Given the description of an element on the screen output the (x, y) to click on. 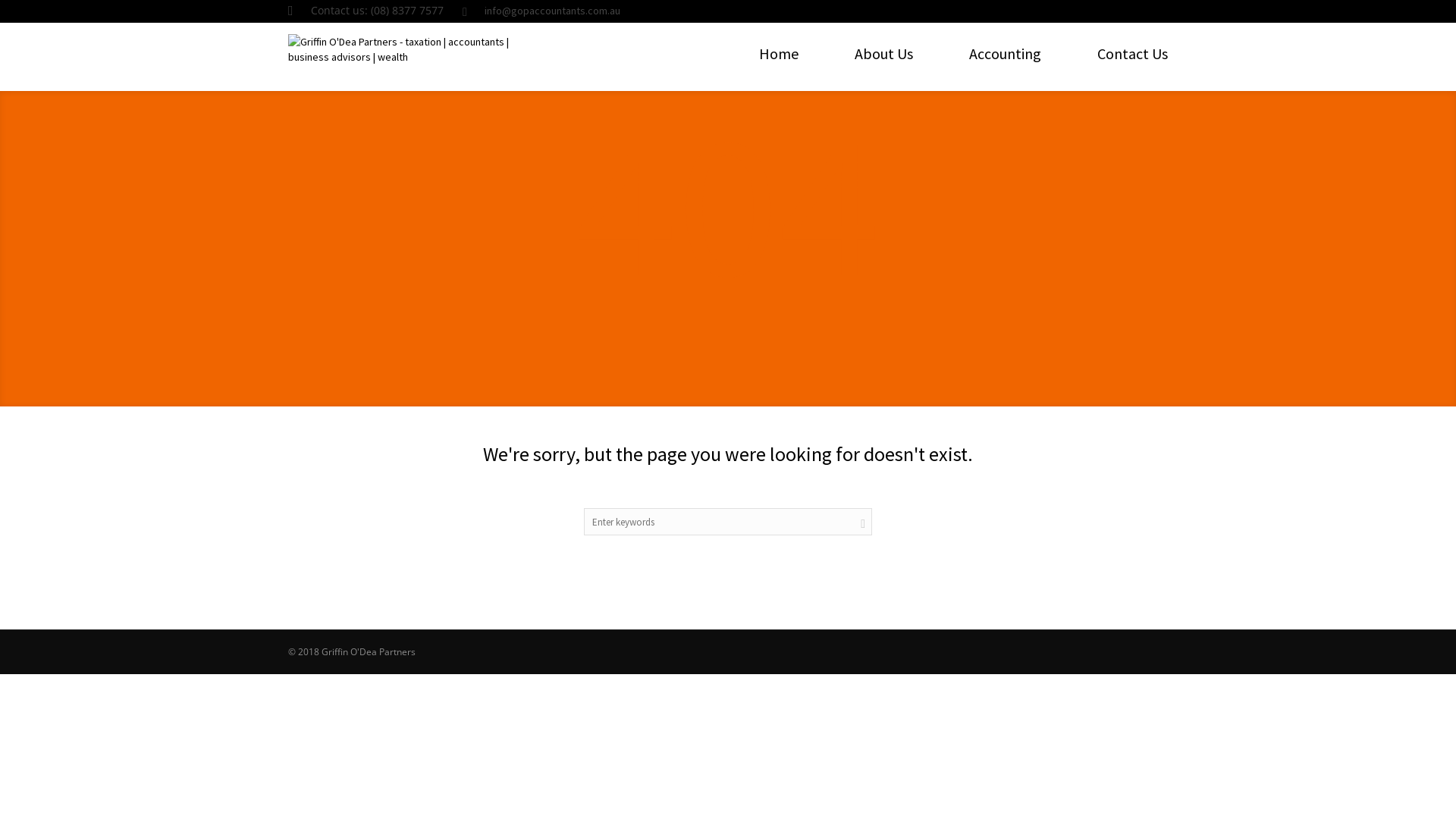
Home Element type: text (778, 53)
Contact Us Element type: text (1132, 53)
About Us Element type: text (883, 53)
info@gopaccountants.com.au Element type: text (552, 10)
Accounting Element type: text (1005, 53)
